Given the description of an element on the screen output the (x, y) to click on. 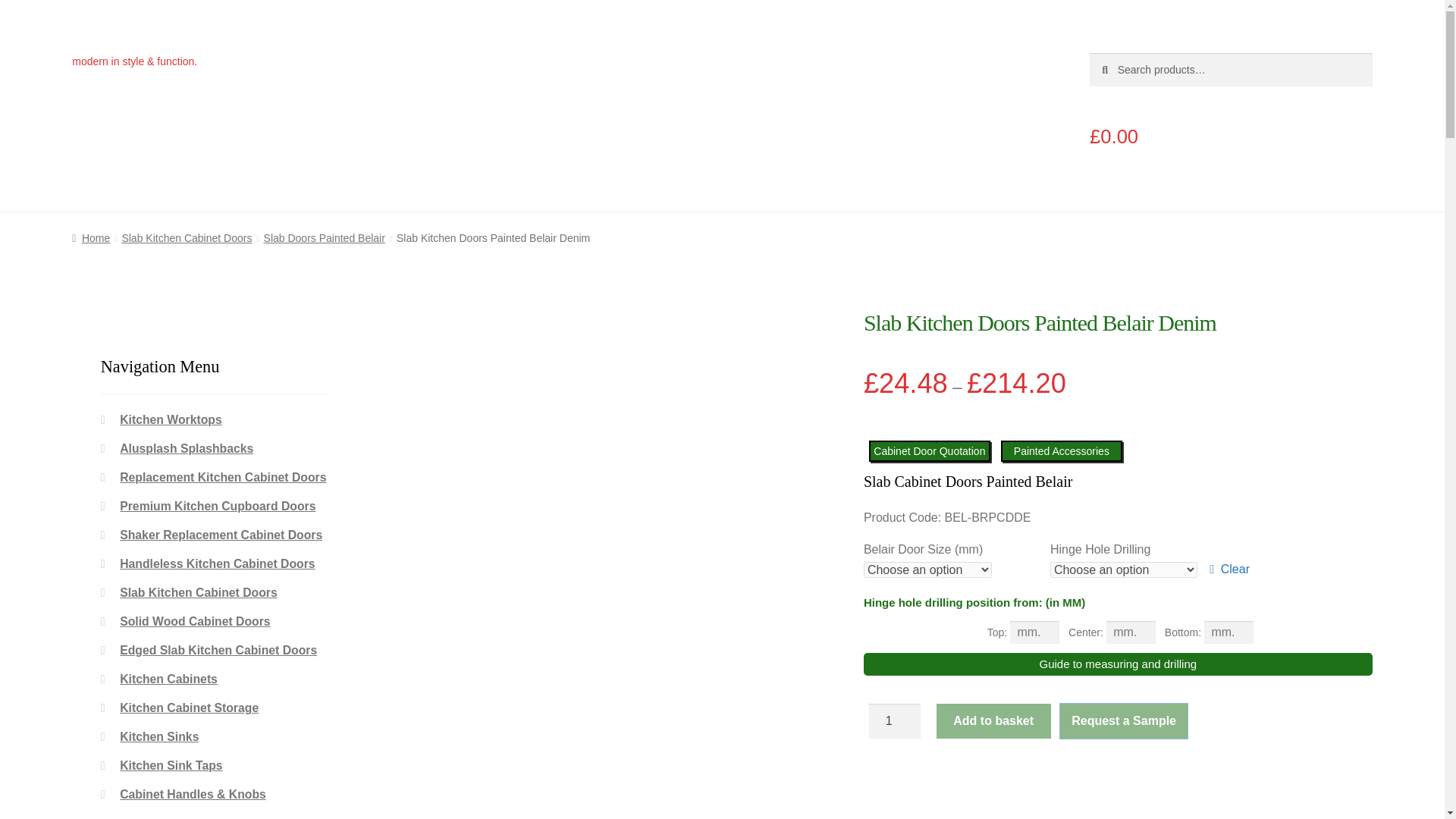
View your shopping basket (1231, 136)
1 (894, 720)
